Given the description of an element on the screen output the (x, y) to click on. 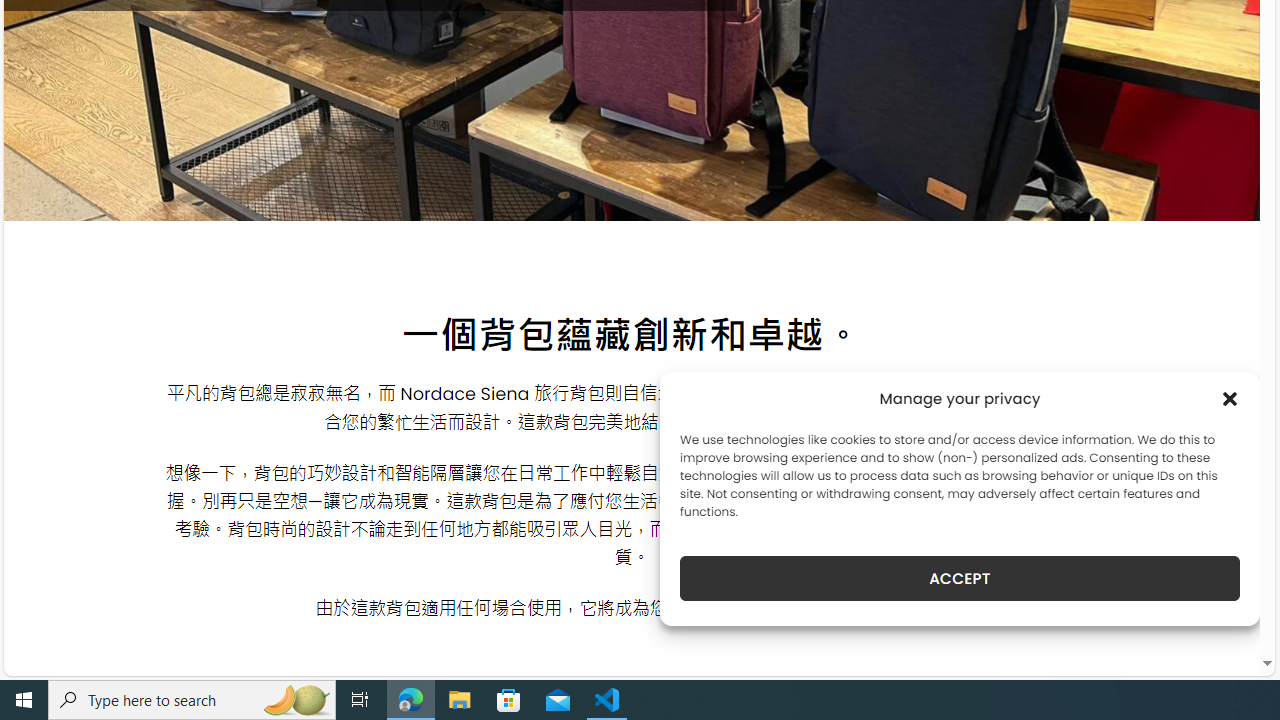
Class: cmplz-close (1229, 398)
ACCEPT (959, 578)
